Given the description of an element on the screen output the (x, y) to click on. 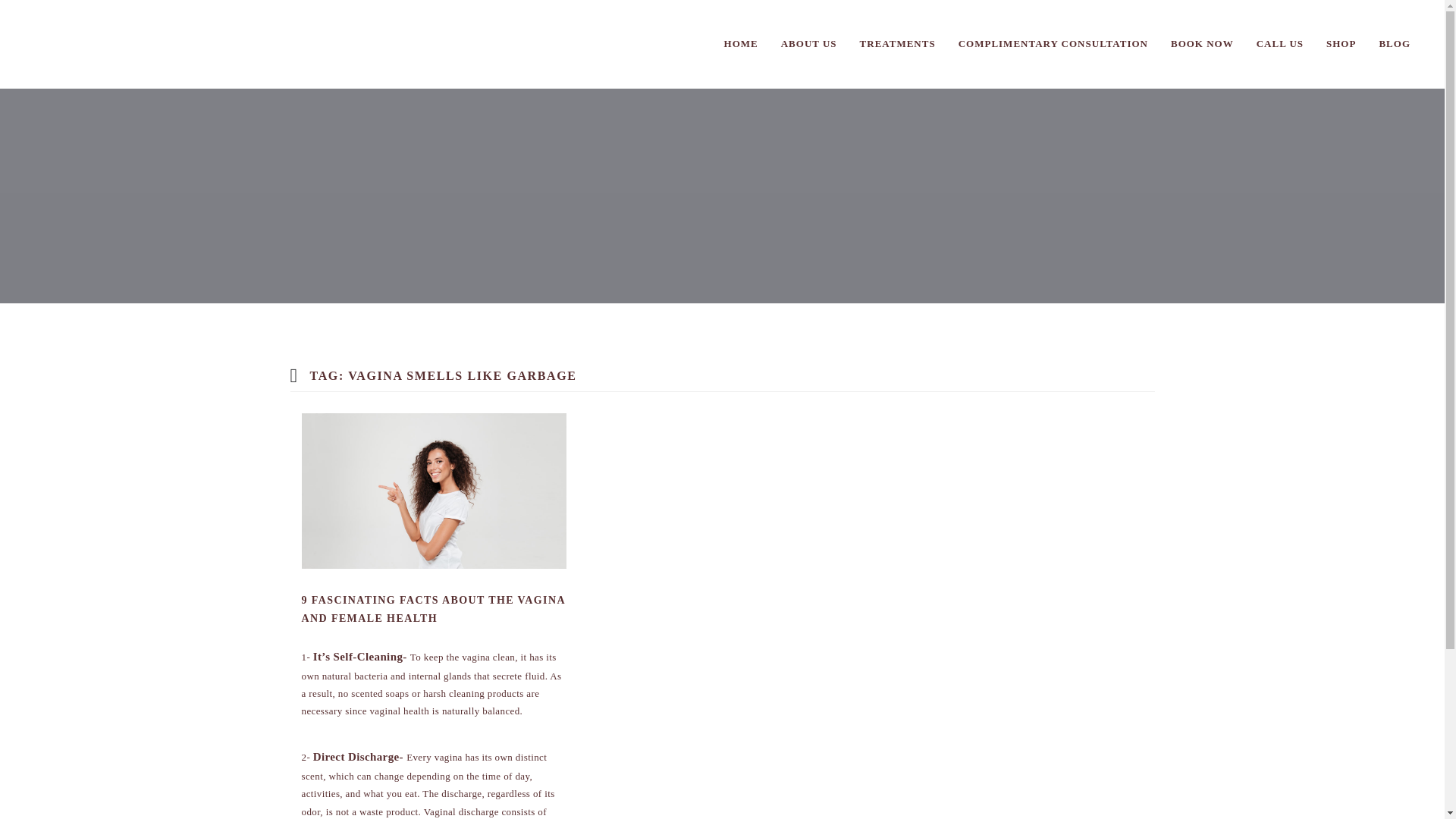
BOOK NOW (1201, 43)
COMPLIMENTARY CONSULTATION (1052, 43)
TREATMENTS (897, 43)
ABOUT US (809, 43)
